Given the description of an element on the screen output the (x, y) to click on. 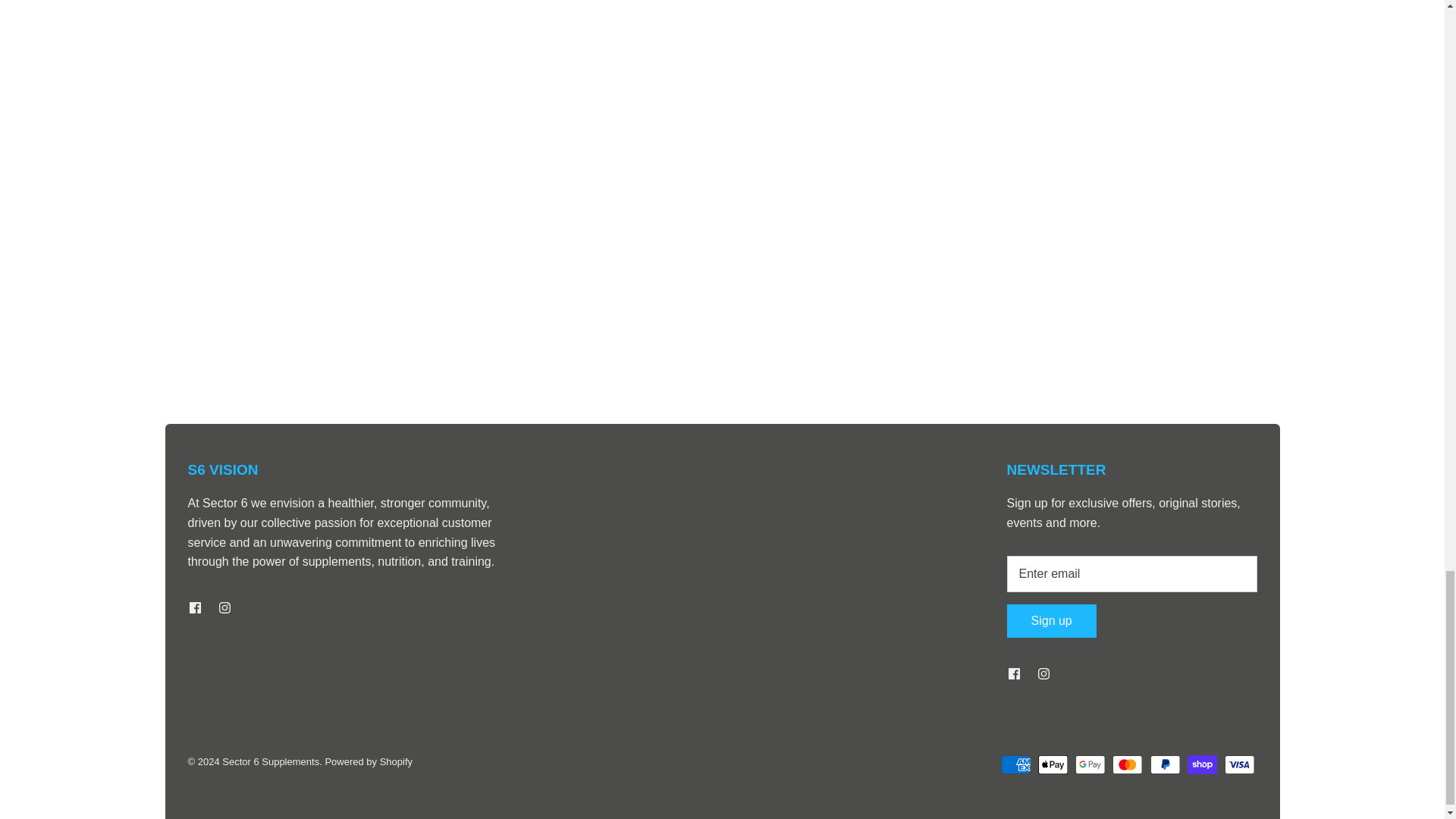
Instagram (224, 607)
Mastercard (1127, 764)
American Express (1015, 764)
Instagram (1042, 673)
Shop Pay (1202, 764)
Visa (1239, 764)
PayPal (1165, 764)
Apple Pay (1053, 764)
Google Pay (1090, 764)
Facebook (194, 607)
